Given the description of an element on the screen output the (x, y) to click on. 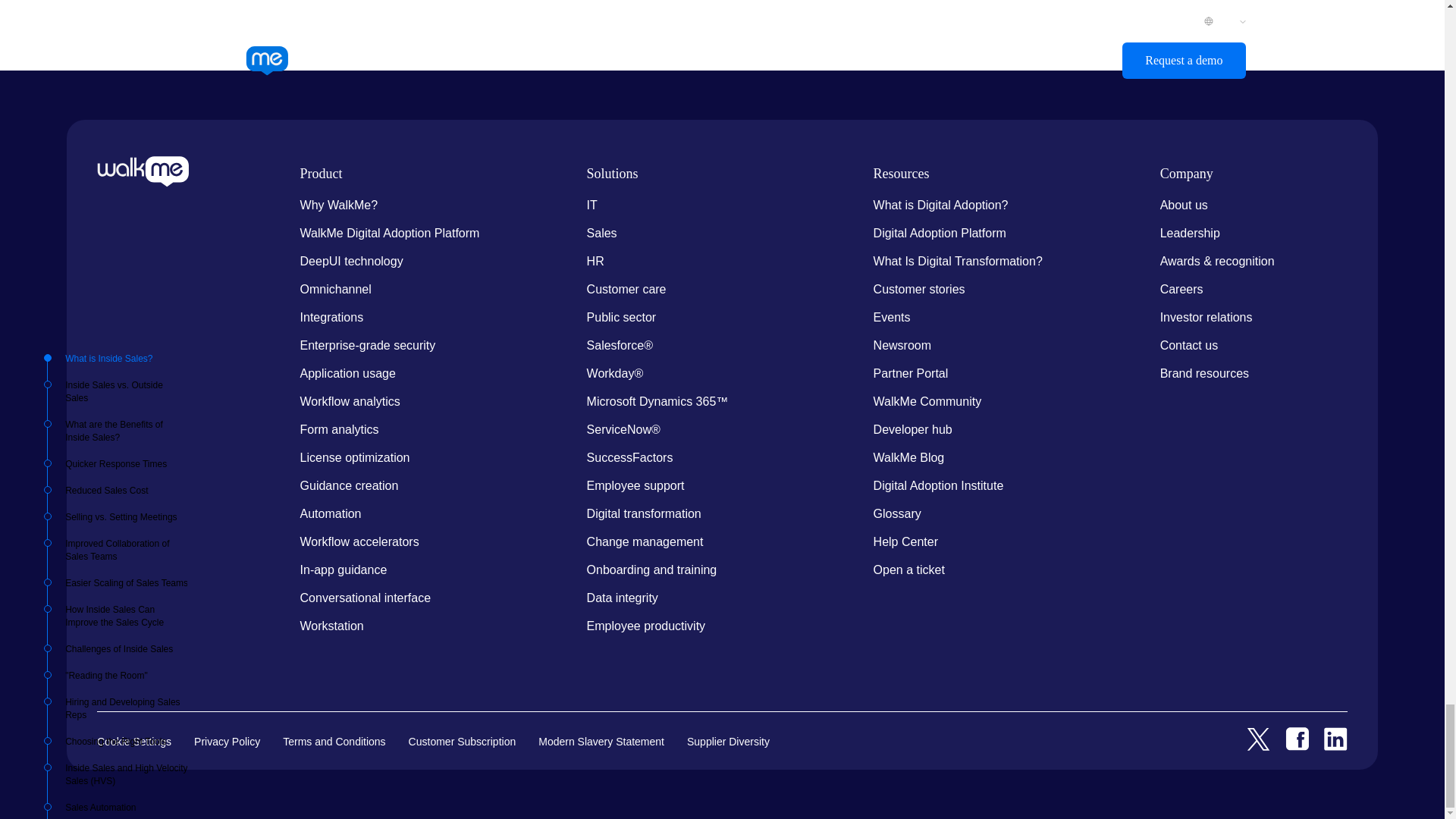
Linked In (1335, 738)
WalkMe (143, 169)
Facebook (1296, 738)
Twitter (1257, 738)
